Given the description of an element on the screen output the (x, y) to click on. 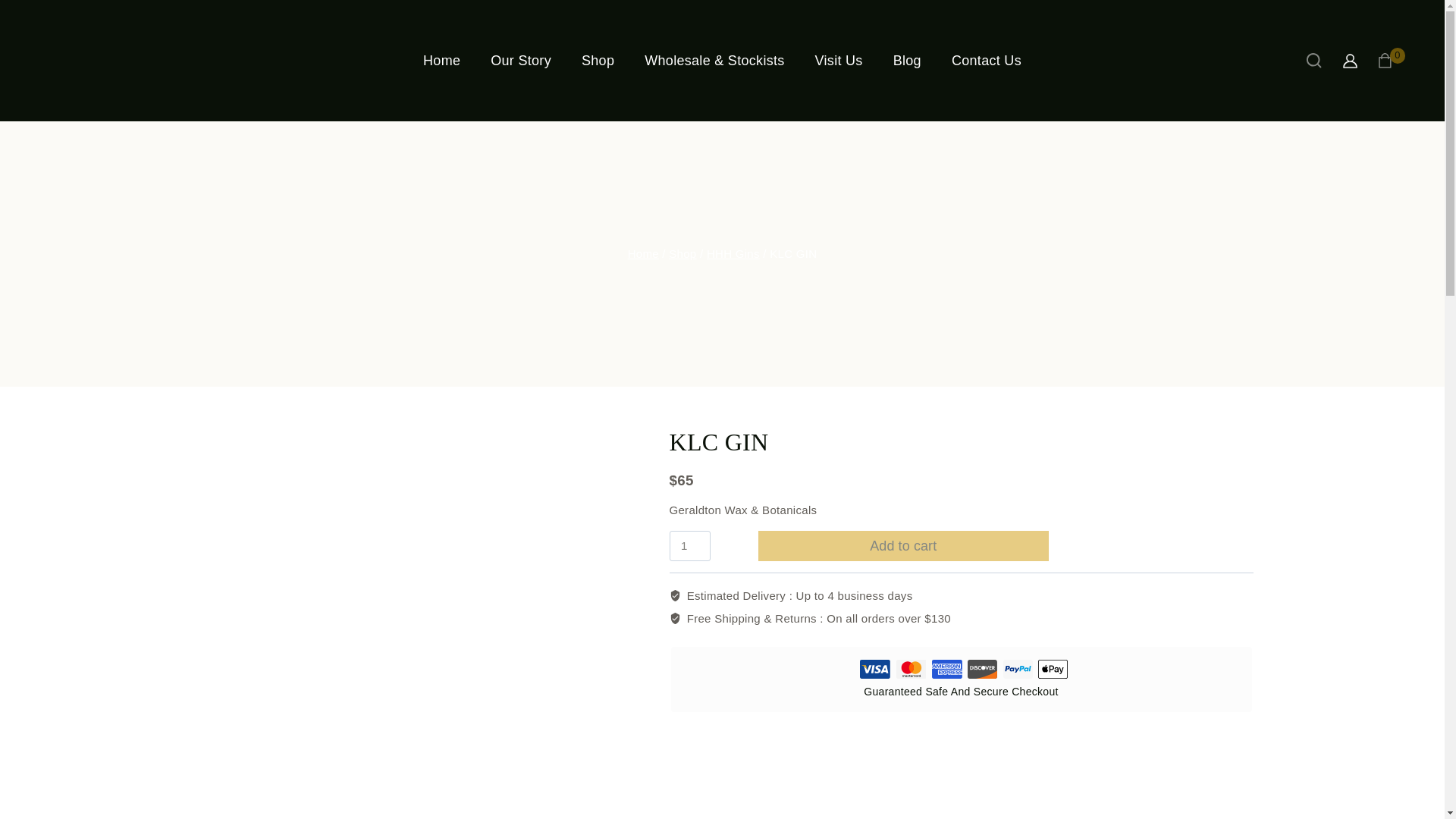
Shop (681, 253)
Contact Us (986, 61)
Visit Us (838, 61)
Home (643, 253)
Add to cart (903, 545)
1 (689, 545)
HHH Gins (733, 253)
Our Story (521, 61)
0 (1391, 60)
